Given the description of an element on the screen output the (x, y) to click on. 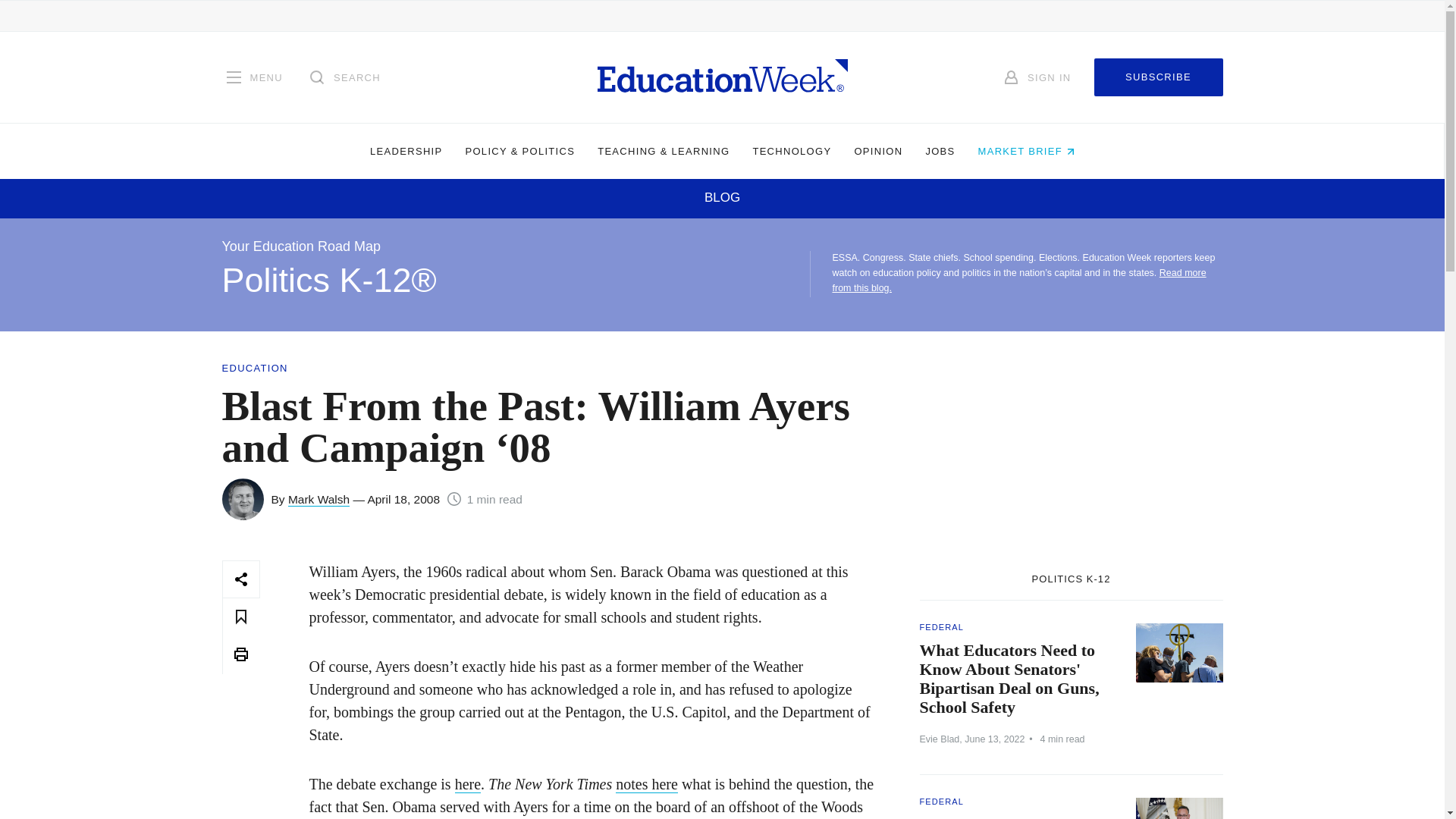
Homepage (721, 76)
